Given the description of an element on the screen output the (x, y) to click on. 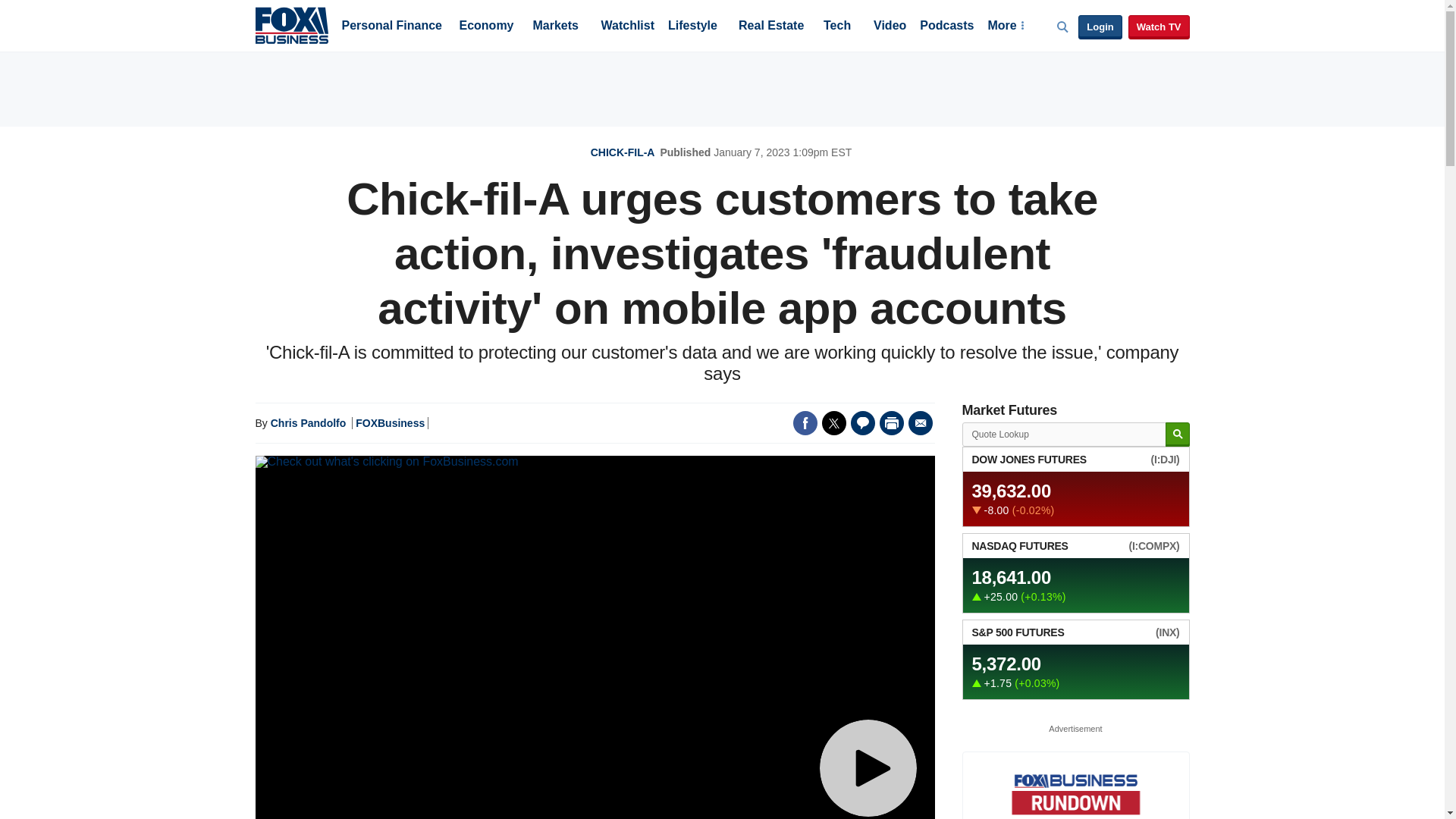
Search (1176, 434)
Podcasts (947, 27)
Markets (555, 27)
More (1005, 27)
Watch TV (1158, 27)
Fox Business (290, 24)
Real Estate (770, 27)
Economy (486, 27)
Tech (837, 27)
Login (1099, 27)
